Given the description of an element on the screen output the (x, y) to click on. 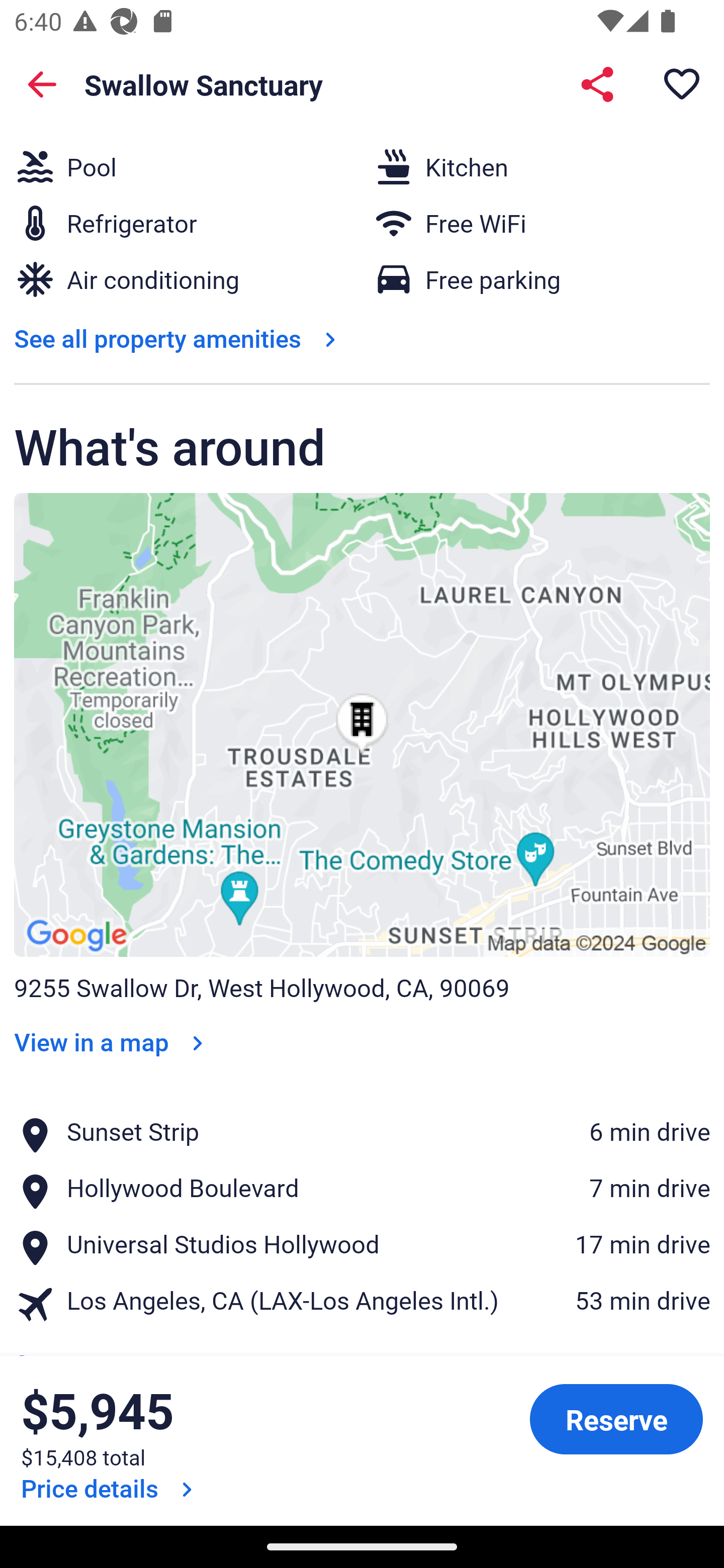
Back (42, 84)
Save property to a trip (681, 84)
Share Swallow Sanctuary (597, 84)
See all property amenities (178, 338)
